Given the description of an element on the screen output the (x, y) to click on. 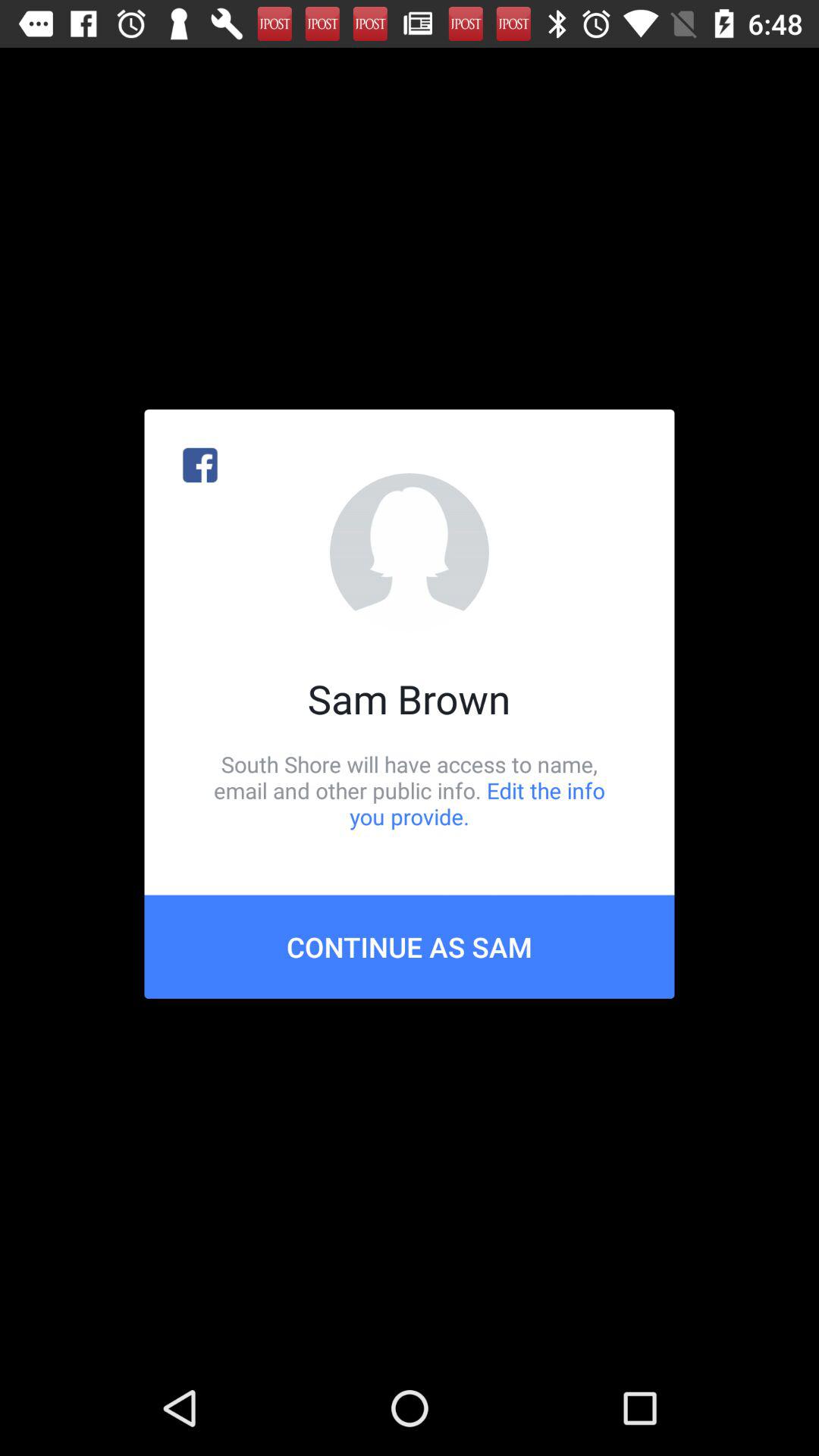
swipe to continue as sam icon (409, 946)
